Given the description of an element on the screen output the (x, y) to click on. 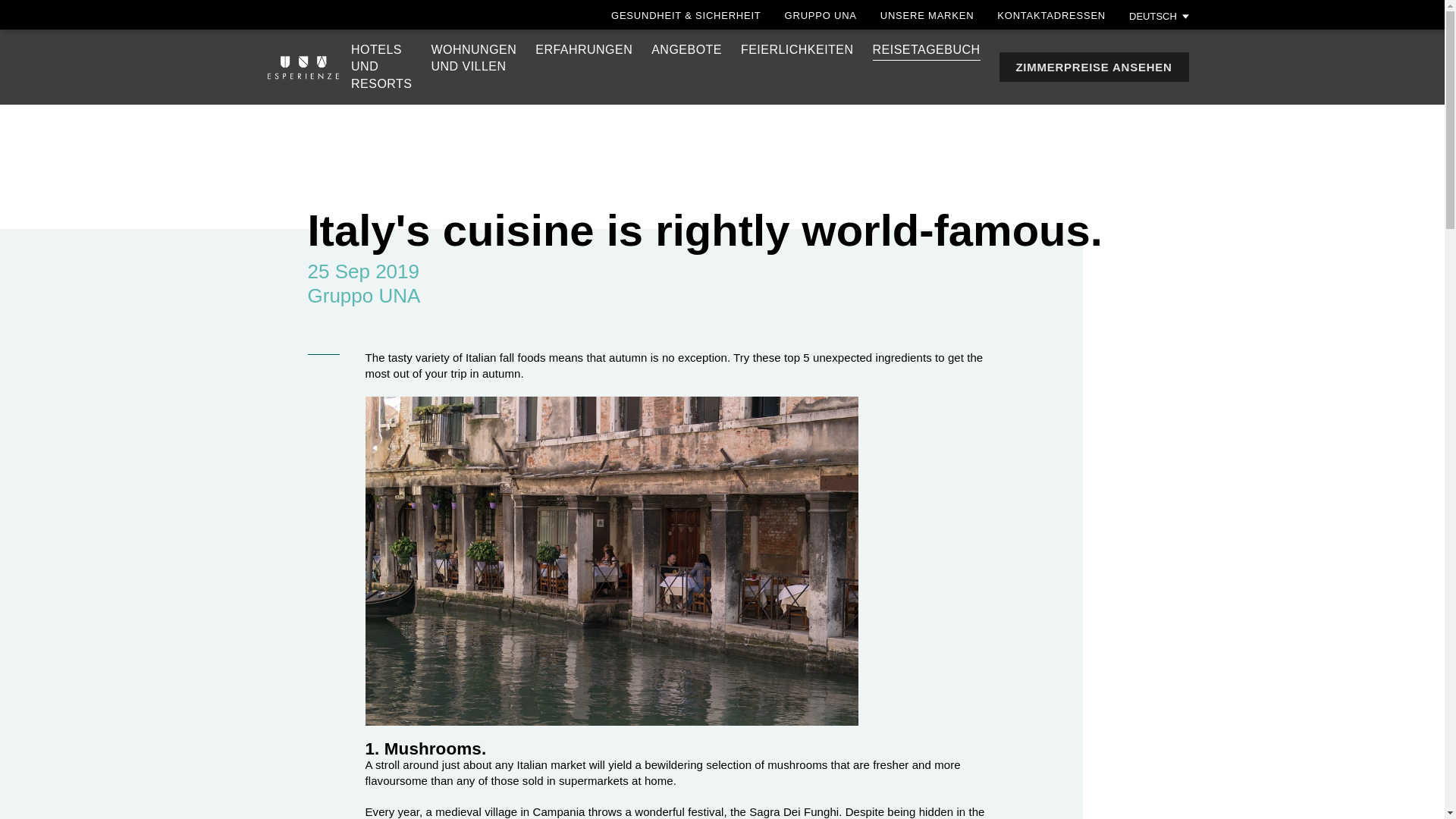
GRUPPO UNA (820, 15)
KONTAKTADRESSEN (1051, 15)
FEIERLICHKEITEN (797, 49)
ANGEBOTE (686, 49)
DEUTSCH (1158, 15)
ERFAHRUNGEN (583, 49)
UNSERE MARKEN (381, 66)
ZIMMERPREISE ANSEHEN (927, 15)
REISETAGEBUCH (473, 57)
